Given the description of an element on the screen output the (x, y) to click on. 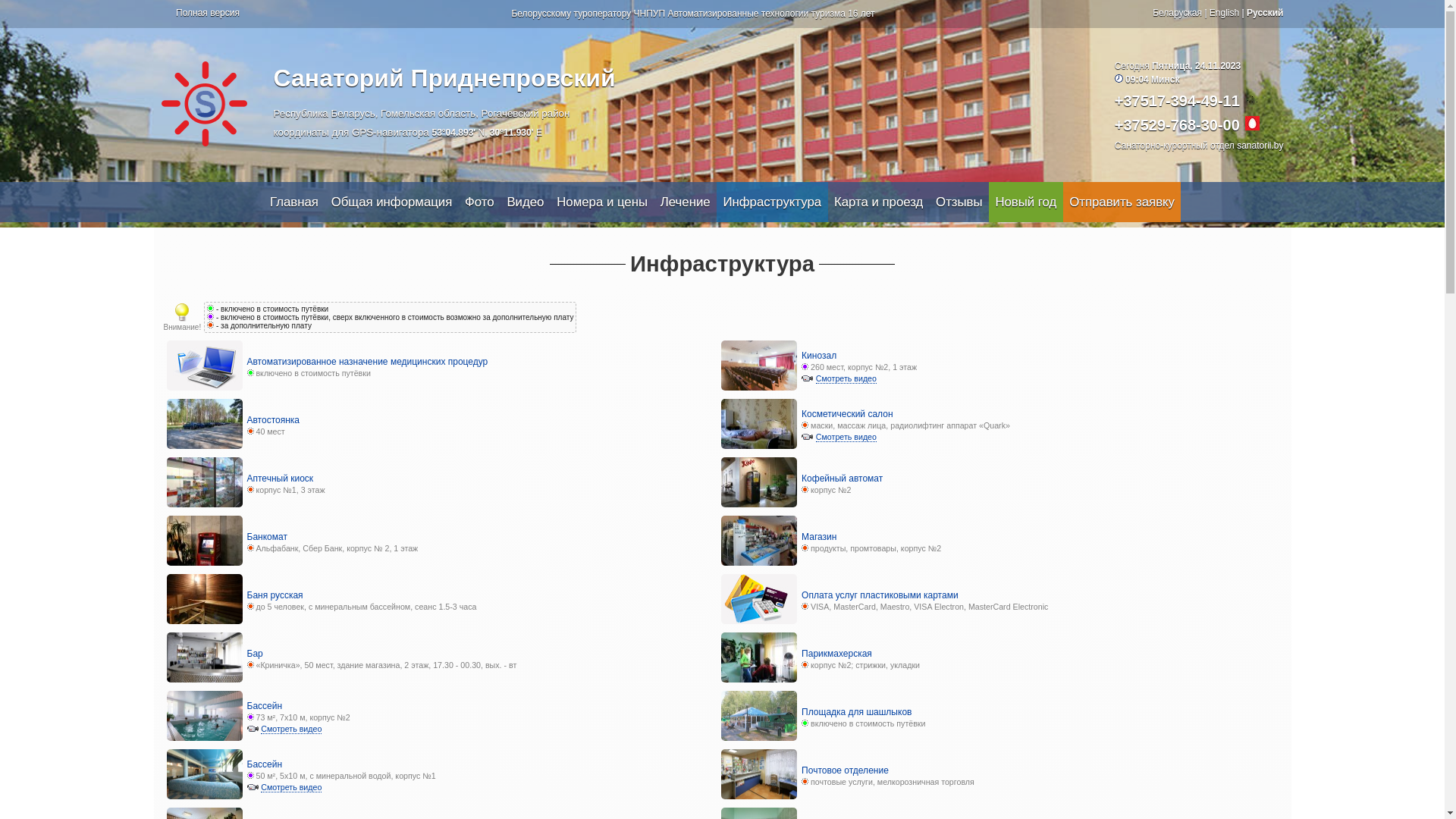
English Element type: text (1224, 12)
+37529-768-30-00 Element type: text (1176, 124)
+37517-394-49-11 Element type: text (1176, 100)
